Given the description of an element on the screen output the (x, y) to click on. 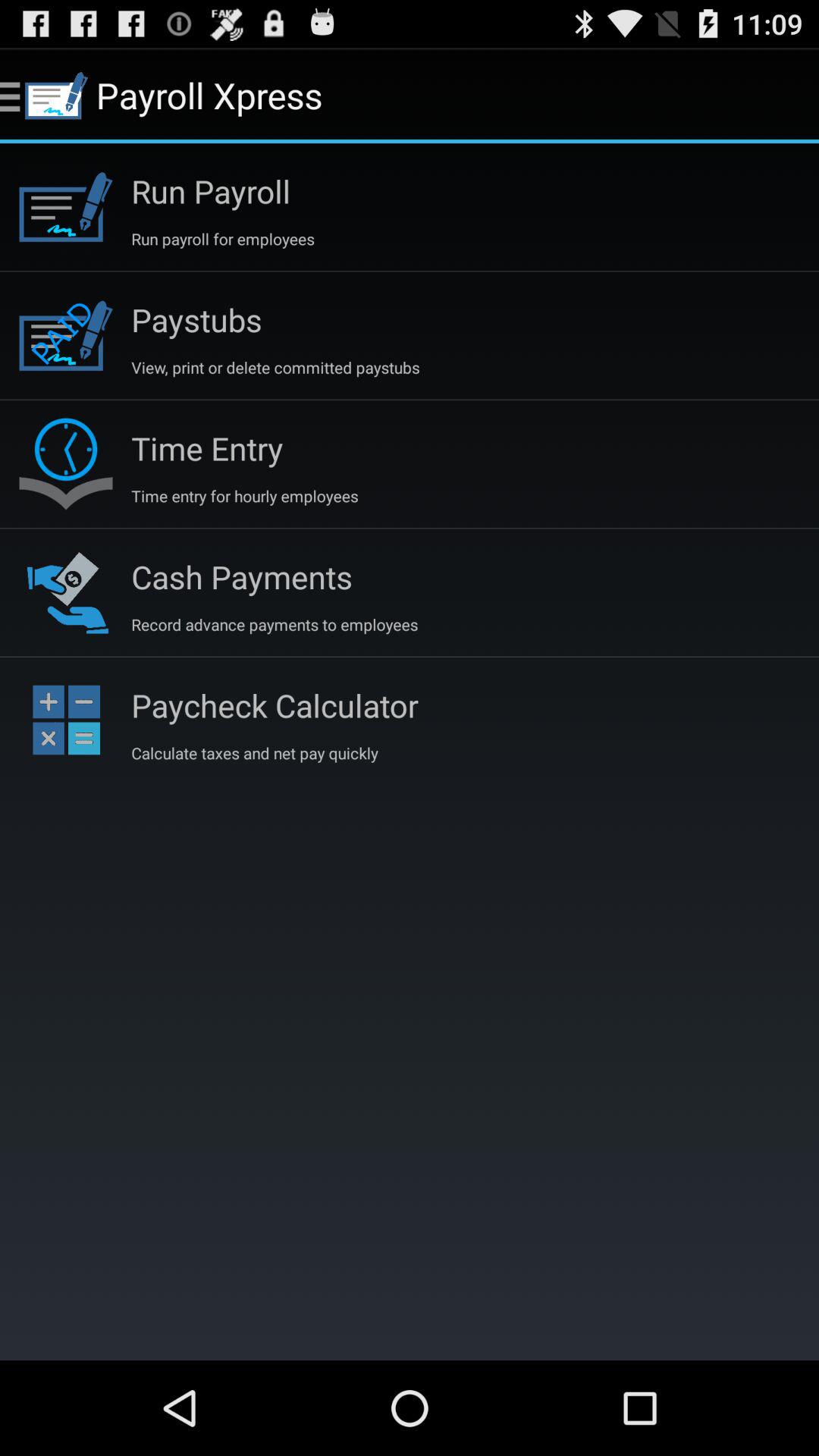
swipe until calculate taxes and icon (254, 752)
